Given the description of an element on the screen output the (x, y) to click on. 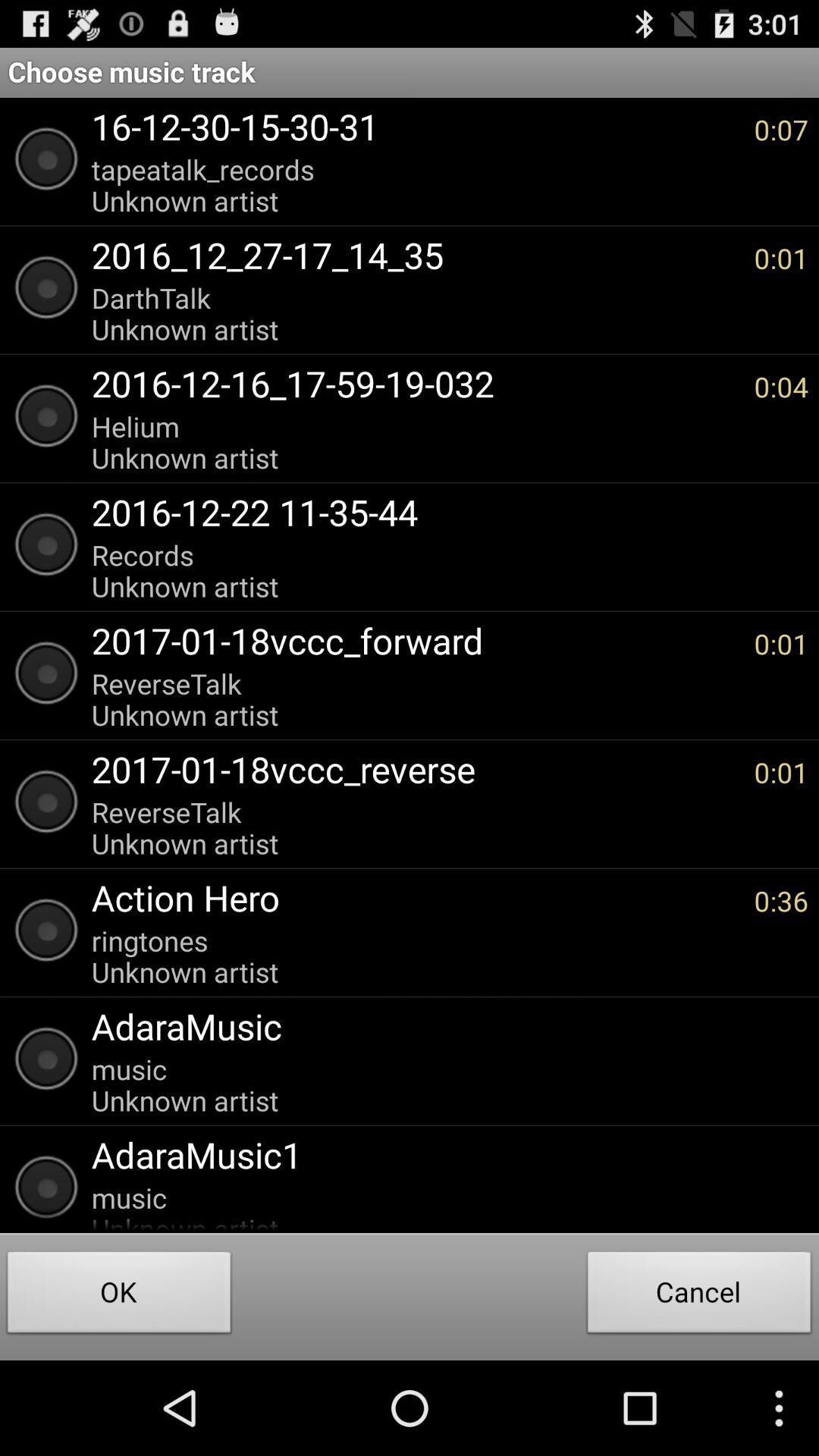
select icon to the right of ok button (699, 1296)
